Given the description of an element on the screen output the (x, y) to click on. 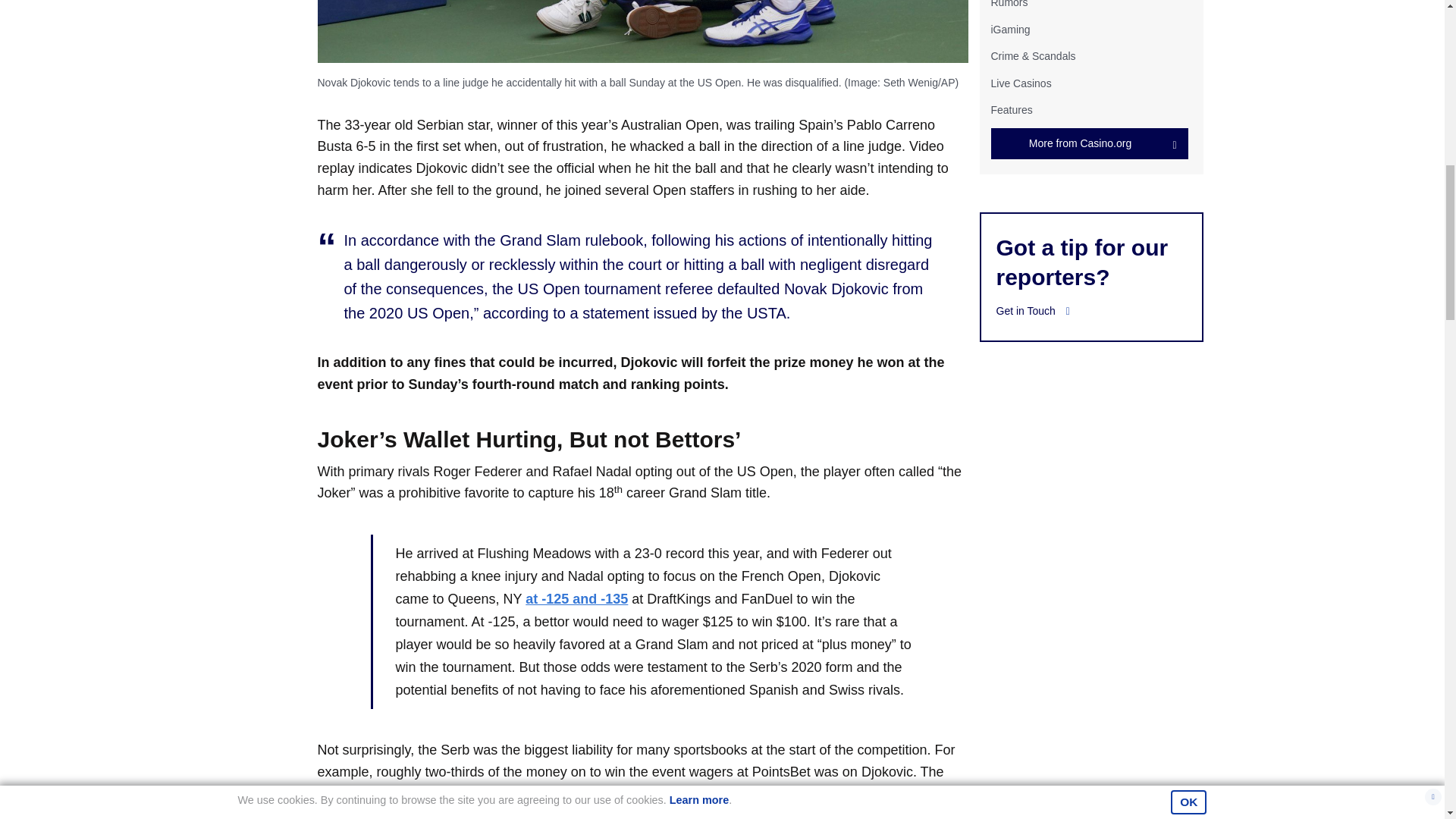
at -125 and -135 (576, 598)
Rumors (1008, 4)
Features (1011, 110)
Live Casinos (1020, 82)
iGaming (1009, 29)
New Jersey, Indiana, and Iowa (673, 793)
